Given the description of an element on the screen output the (x, y) to click on. 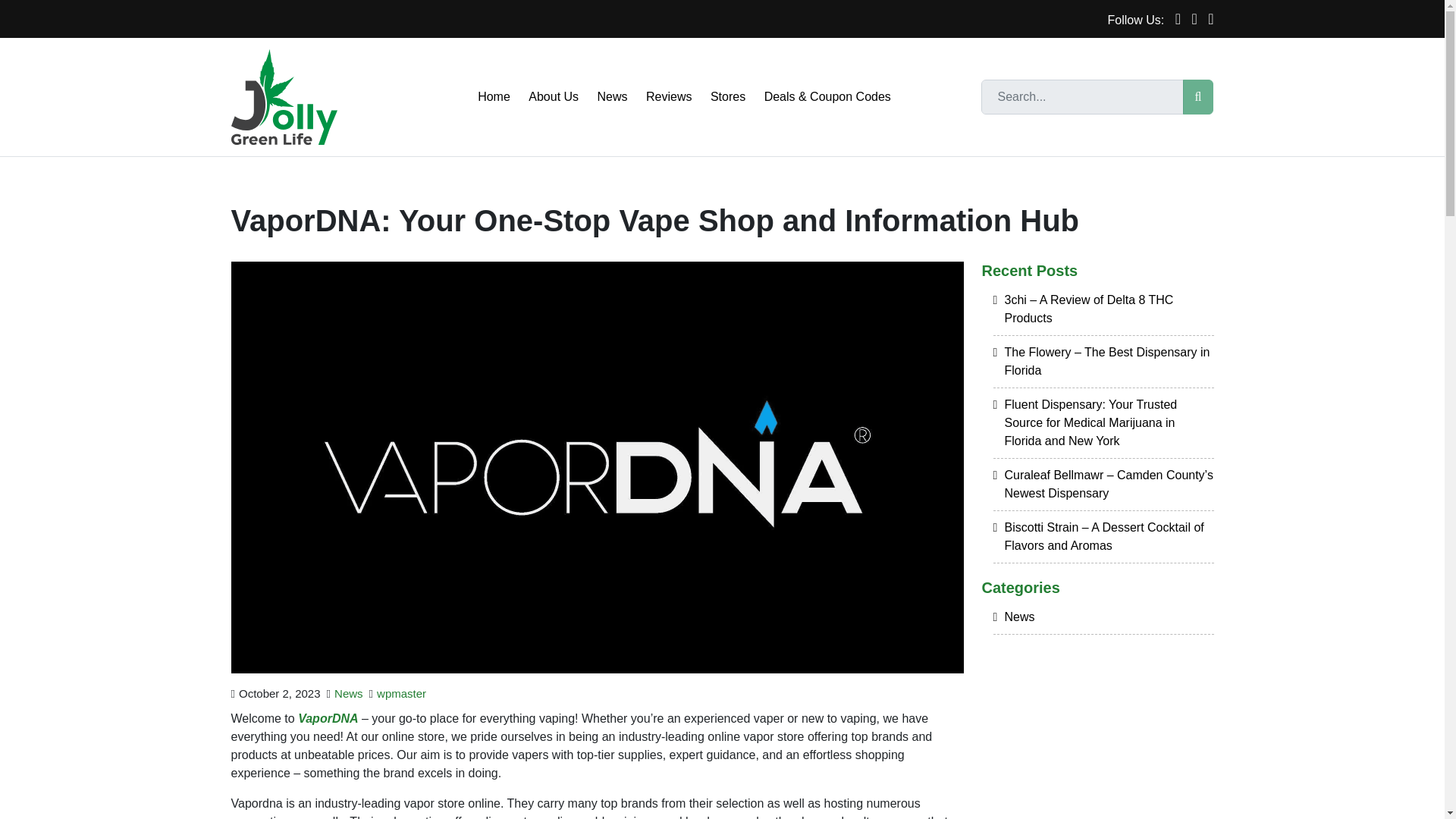
News (1103, 621)
VaporDNA (328, 717)
Reviews (668, 96)
About Us (553, 96)
News (611, 96)
News (348, 693)
Posts by wpmaster (401, 693)
wpmaster (401, 693)
Stores (727, 96)
